Given the description of an element on the screen output the (x, y) to click on. 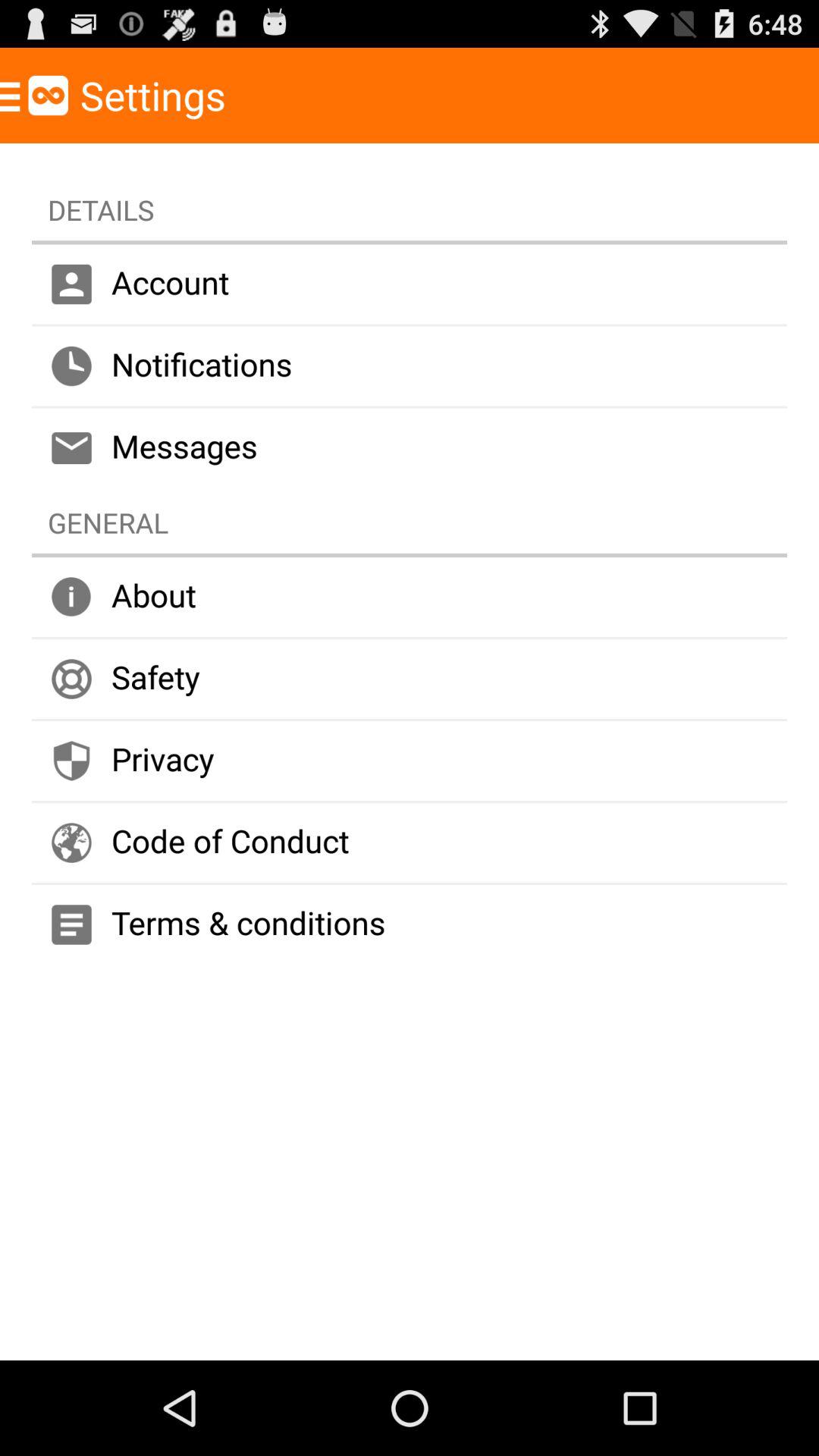
launch the icon below the account (409, 366)
